Given the description of an element on the screen output the (x, y) to click on. 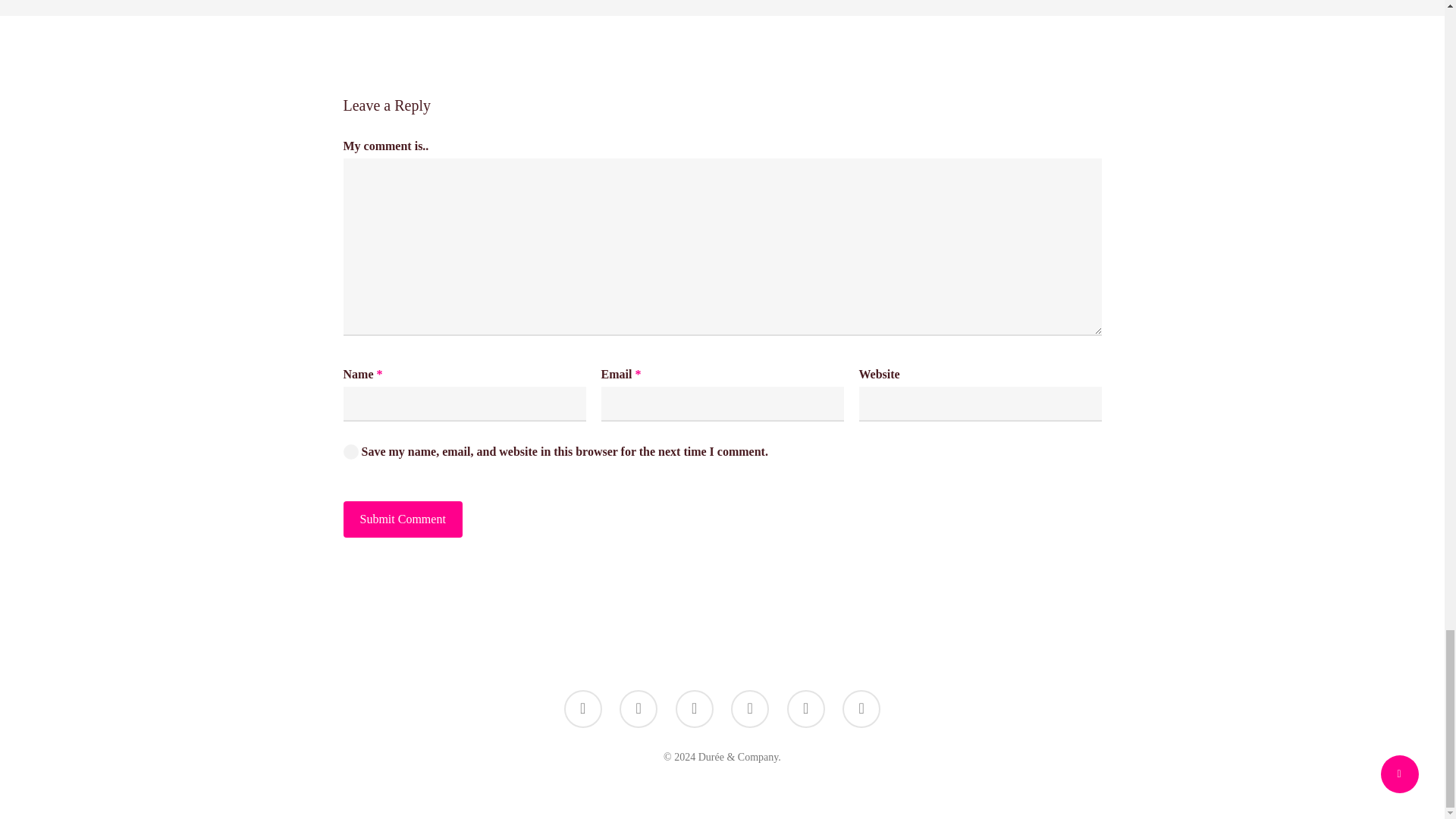
yes (350, 451)
Submit Comment (401, 519)
